Given the description of an element on the screen output the (x, y) to click on. 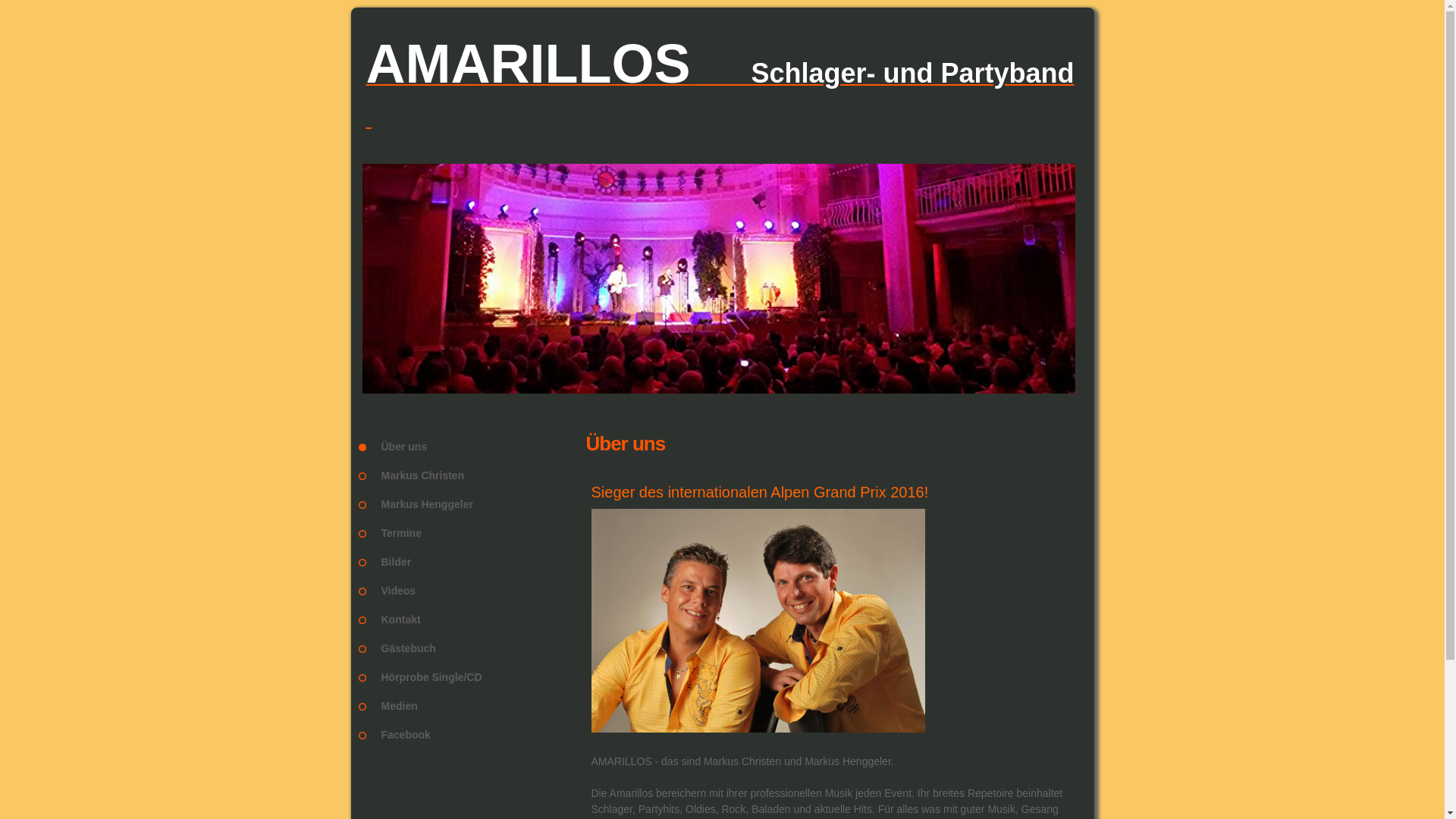
Medien Element type: text (471, 705)
Videos Element type: text (471, 590)
Facebook Element type: text (471, 734)
Kontakt Element type: text (471, 619)
Termine Element type: text (471, 532)
AMARILLOS        Schlager- und Partyband
  Element type: text (721, 78)
Markus Henggeler Element type: text (471, 504)
Bilder Element type: text (471, 561)
Markus Christen Element type: text (471, 475)
